Given the description of an element on the screen output the (x, y) to click on. 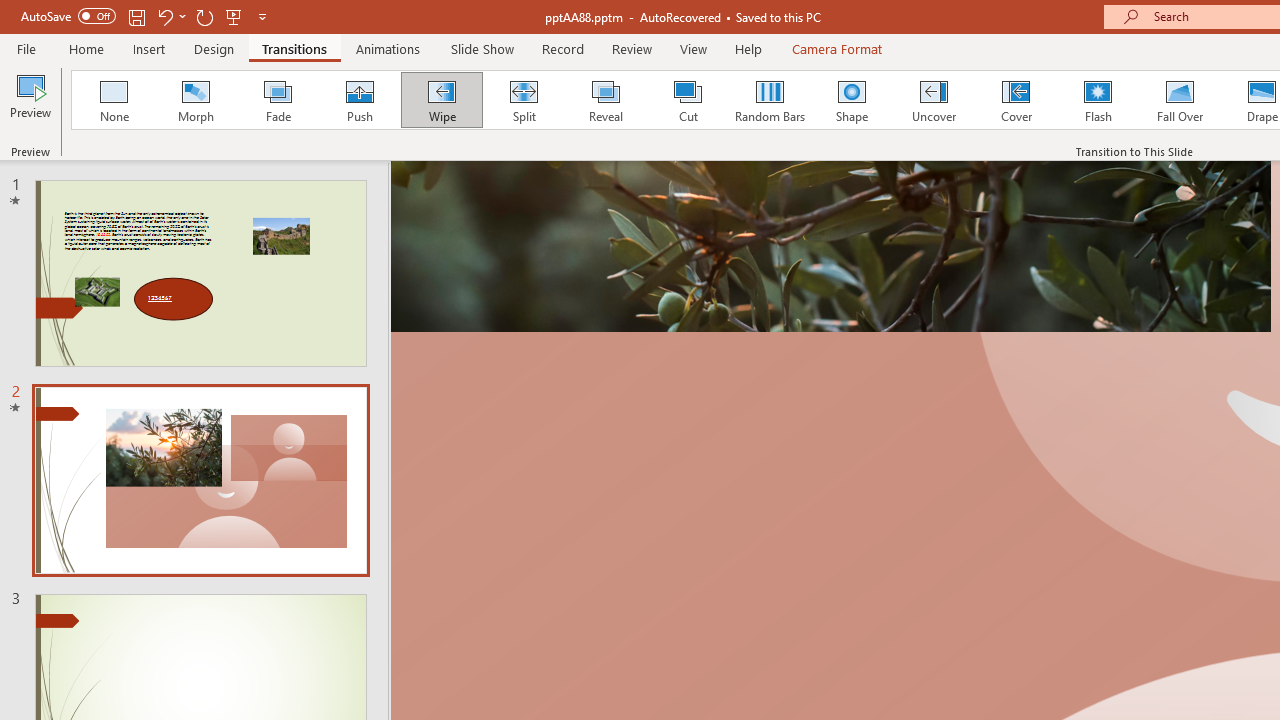
Morph (195, 100)
System (10, 11)
Wipe (441, 100)
Fade (277, 100)
File Tab (26, 48)
Record (562, 48)
Slide (200, 480)
Customize Quick Access Toolbar (262, 15)
System (10, 11)
Push (359, 100)
Shape (852, 100)
Help (748, 48)
Undo (164, 15)
Design (214, 48)
Quick Access Toolbar (145, 16)
